Given the description of an element on the screen output the (x, y) to click on. 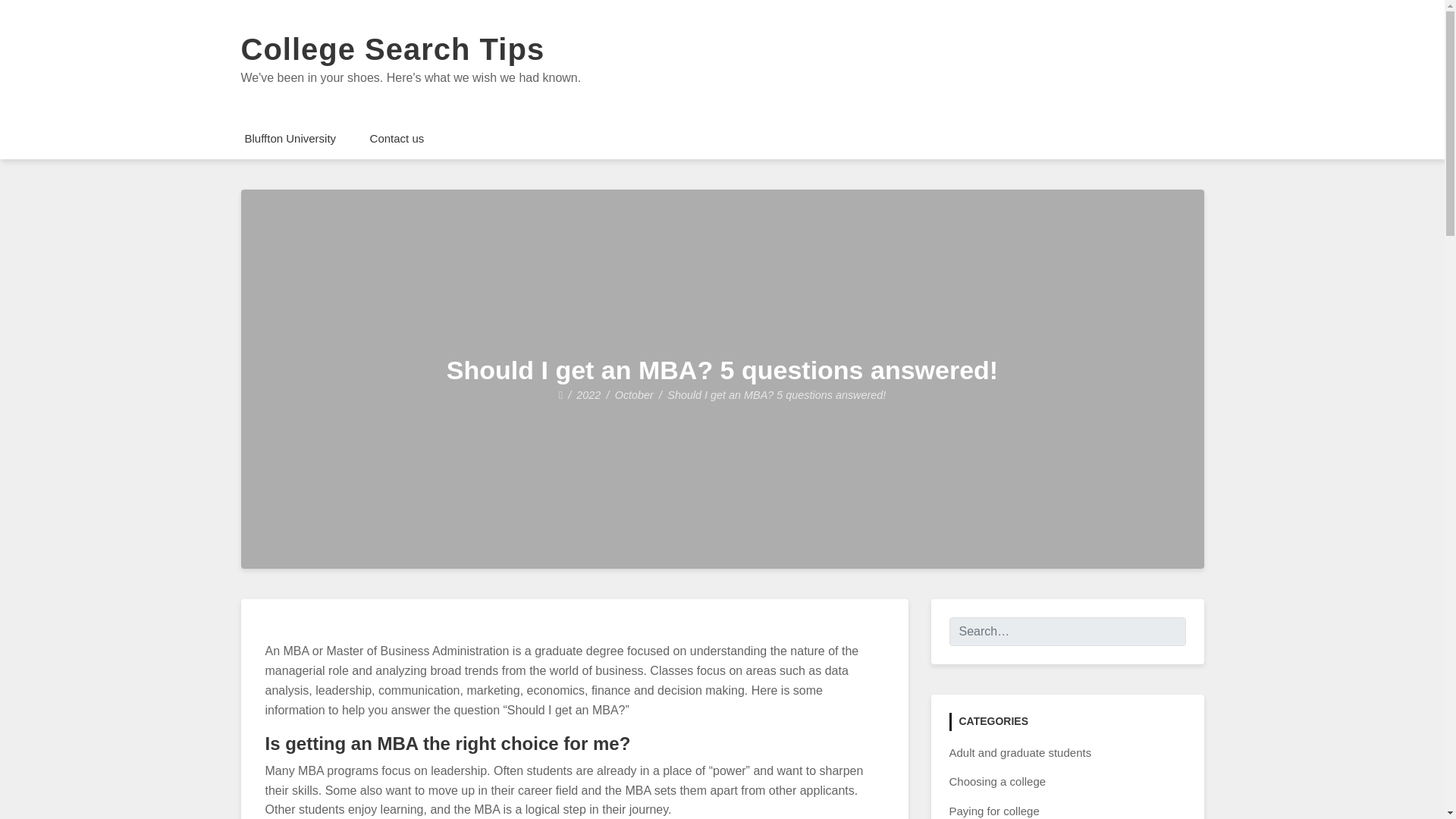
Bluffton University (289, 137)
2022 (587, 395)
Choosing a college (997, 780)
Paying for college (994, 810)
Contact us (397, 137)
Adult and graduate students (1020, 752)
October (633, 395)
College Search Tips (392, 49)
